Given the description of an element on the screen output the (x, y) to click on. 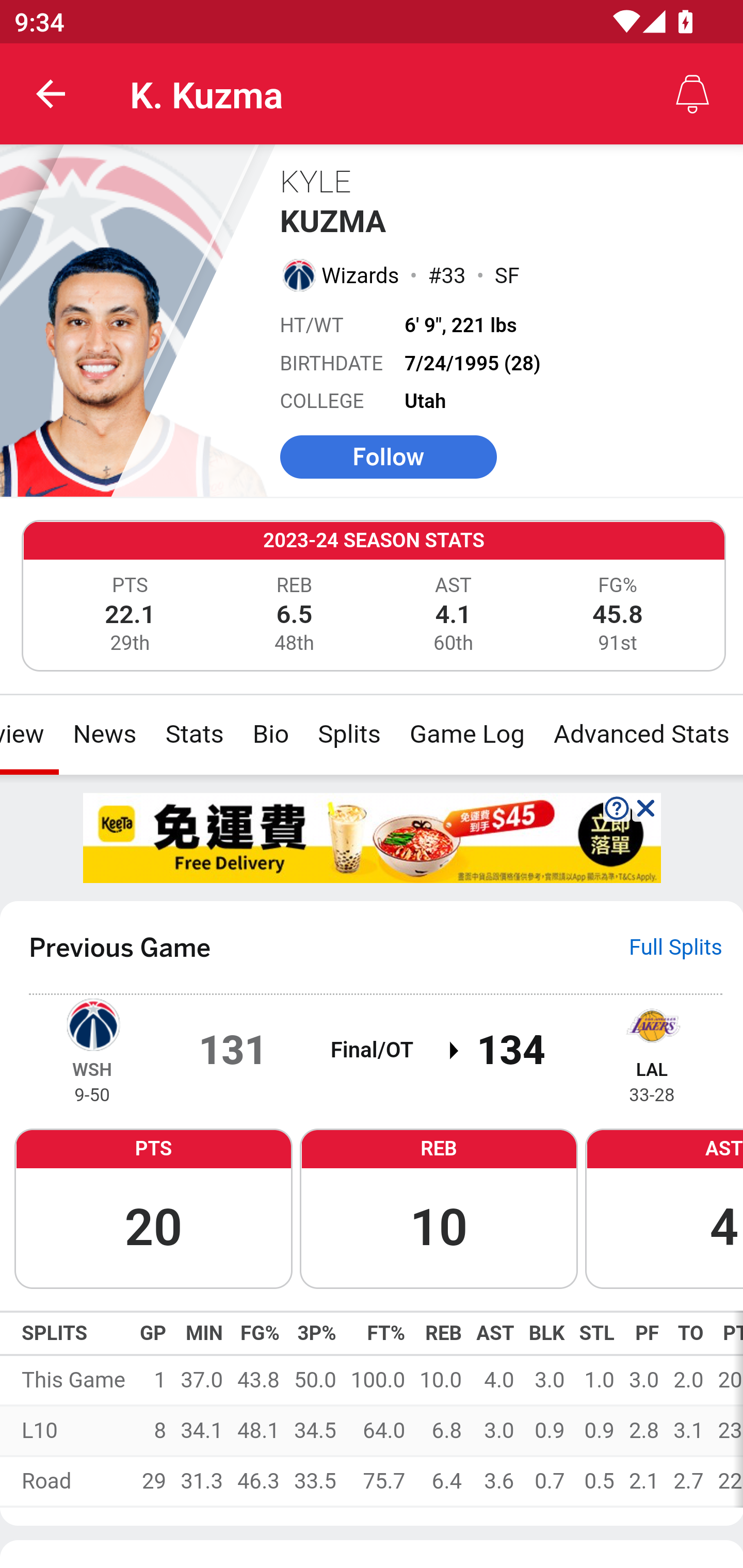
back.button (50, 93)
Alerts (692, 93)
Washington Wizards (297, 274)
Wizards (361, 274)
Utah (426, 401)
Follow (387, 455)
Overview (29, 734)
News (104, 734)
Stats (193, 734)
Bio (270, 734)
Splits (349, 734)
Game Log (466, 734)
Advanced Stats (640, 734)
o86KnEM_1693809266736_0 (372, 837)
Full Splits (675, 946)
Washington Wizards (91, 1022)
Los Angeles Lakers (651, 1022)
PTS 20 REB 10 AST 4 (371, 1206)
PTS 20 (153, 1206)
REB 10 (438, 1206)
AST 4 (664, 1206)
